Given the description of an element on the screen output the (x, y) to click on. 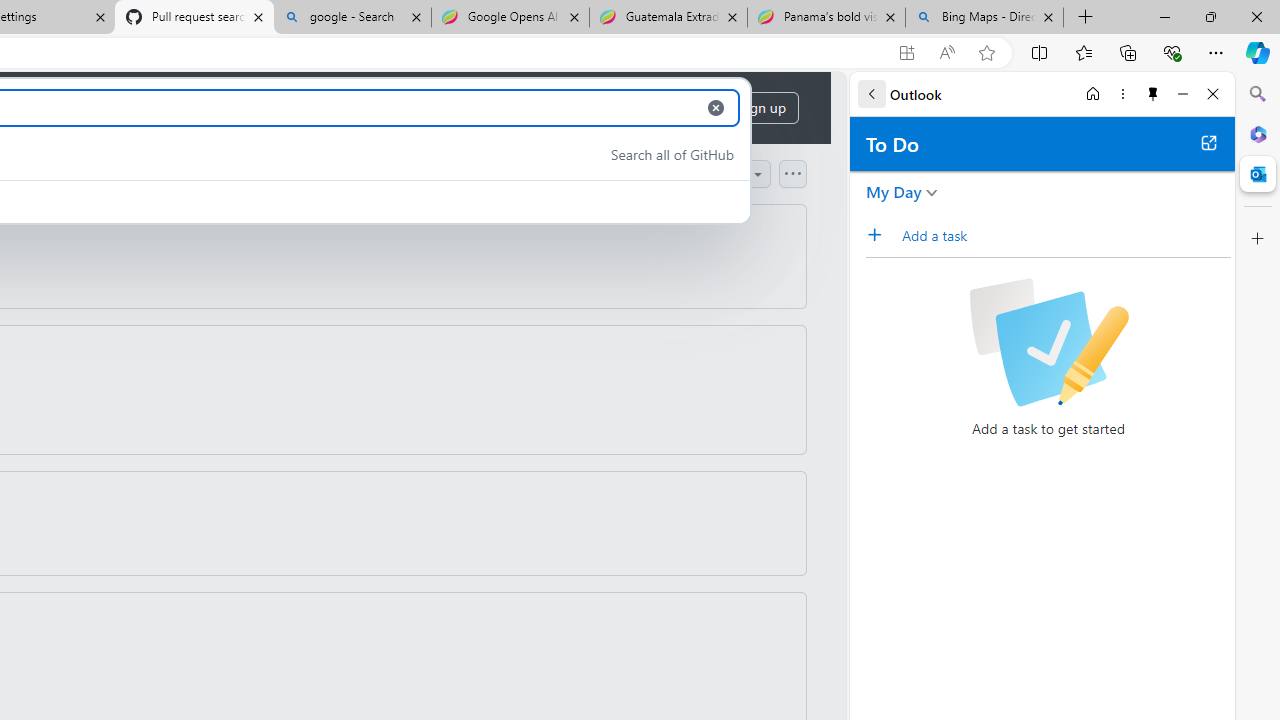
Open in new tab (1208, 142)
My Day (893, 191)
Sign up (761, 107)
Google Opens AI Academy for Startups - Nearshore Americas (509, 17)
Sort by: Best match (700, 173)
